Given the description of an element on the screen output the (x, y) to click on. 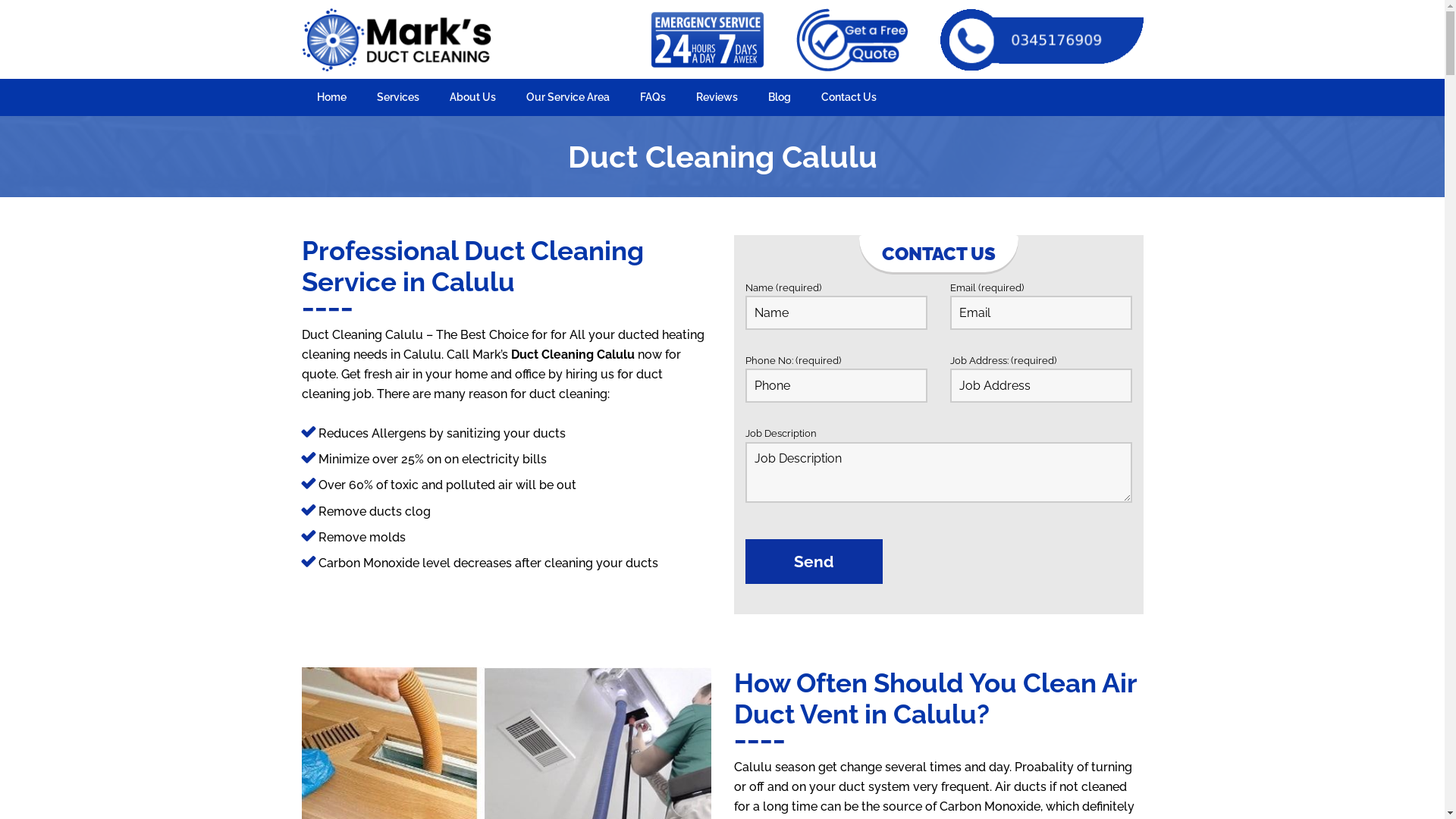
Our Service Area Element type: text (567, 97)
Home Element type: text (331, 97)
FAQs Element type: text (652, 97)
Contact Us Element type: text (847, 97)
Reviews Element type: text (716, 97)
About Us Element type: text (471, 97)
Blog Element type: text (778, 97)
Services Element type: text (397, 97)
Send Element type: text (812, 561)
